Given the description of an element on the screen output the (x, y) to click on. 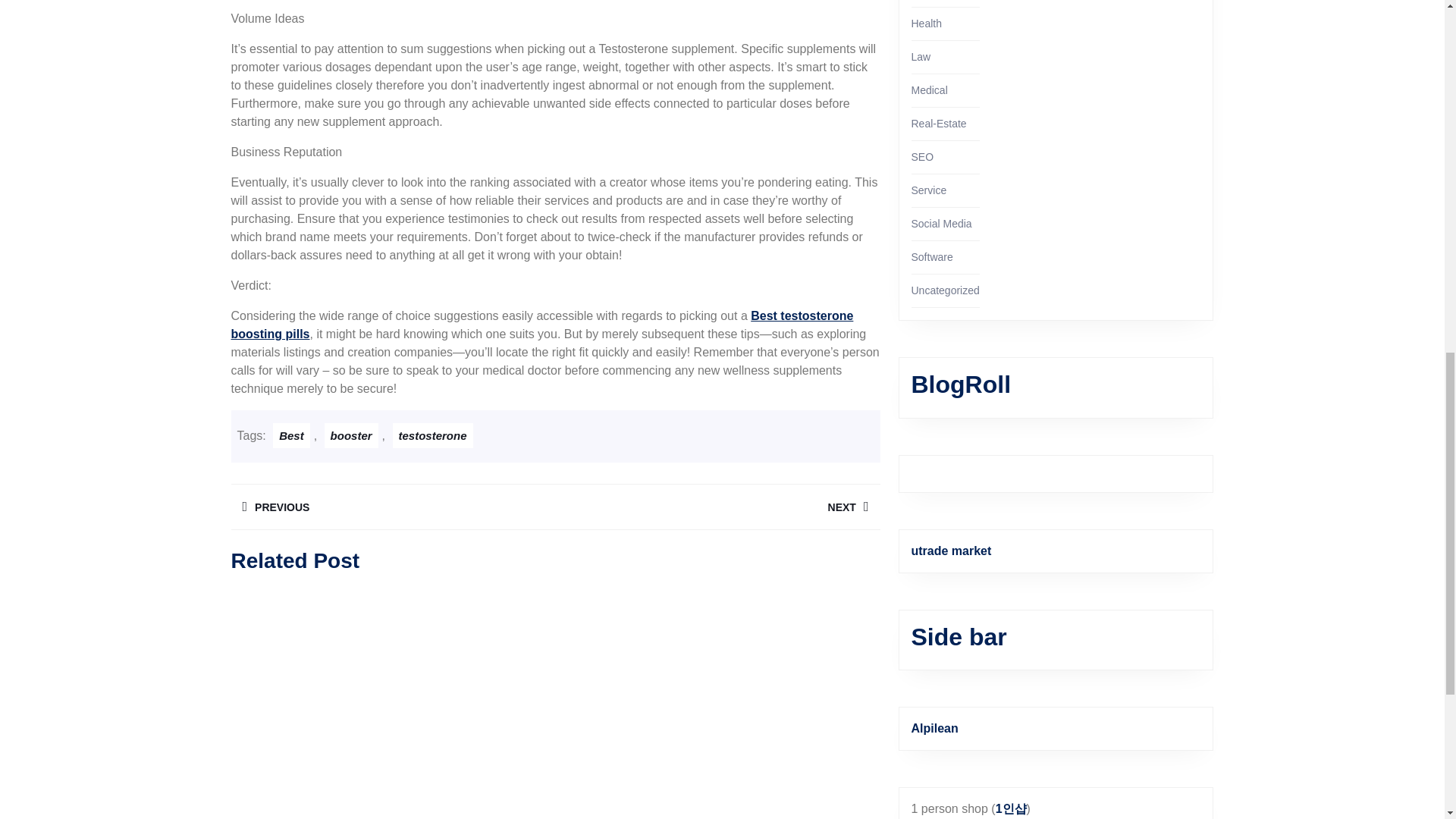
testosterone (716, 506)
Best testosterone boosting pills (392, 506)
booster (433, 435)
Best (541, 324)
